Given the description of an element on the screen output the (x, y) to click on. 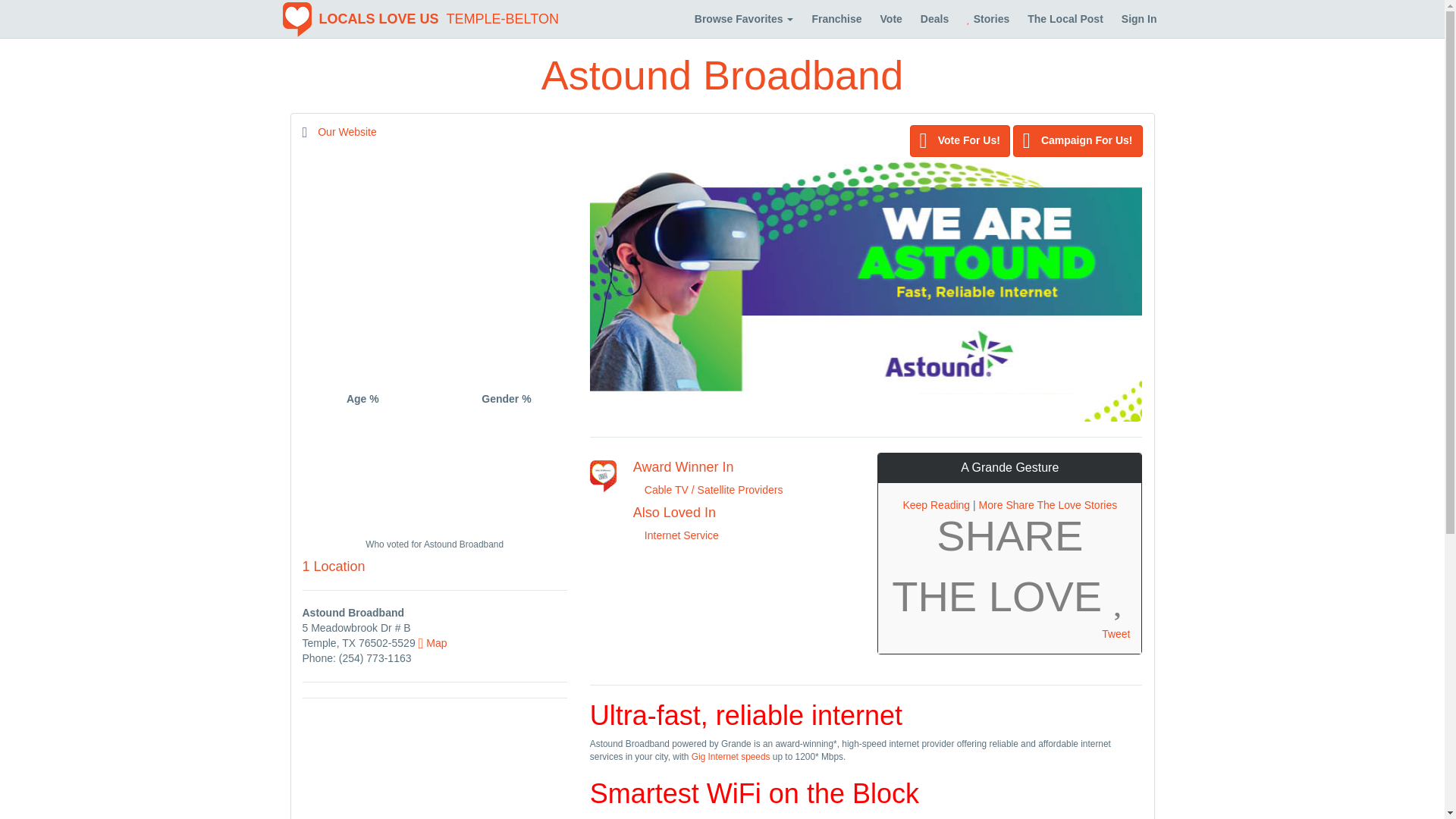
LOCALS LOVE US (360, 18)
TEMPLE-BELTON (502, 18)
Browse Favorites (744, 18)
